Given the description of an element on the screen output the (x, y) to click on. 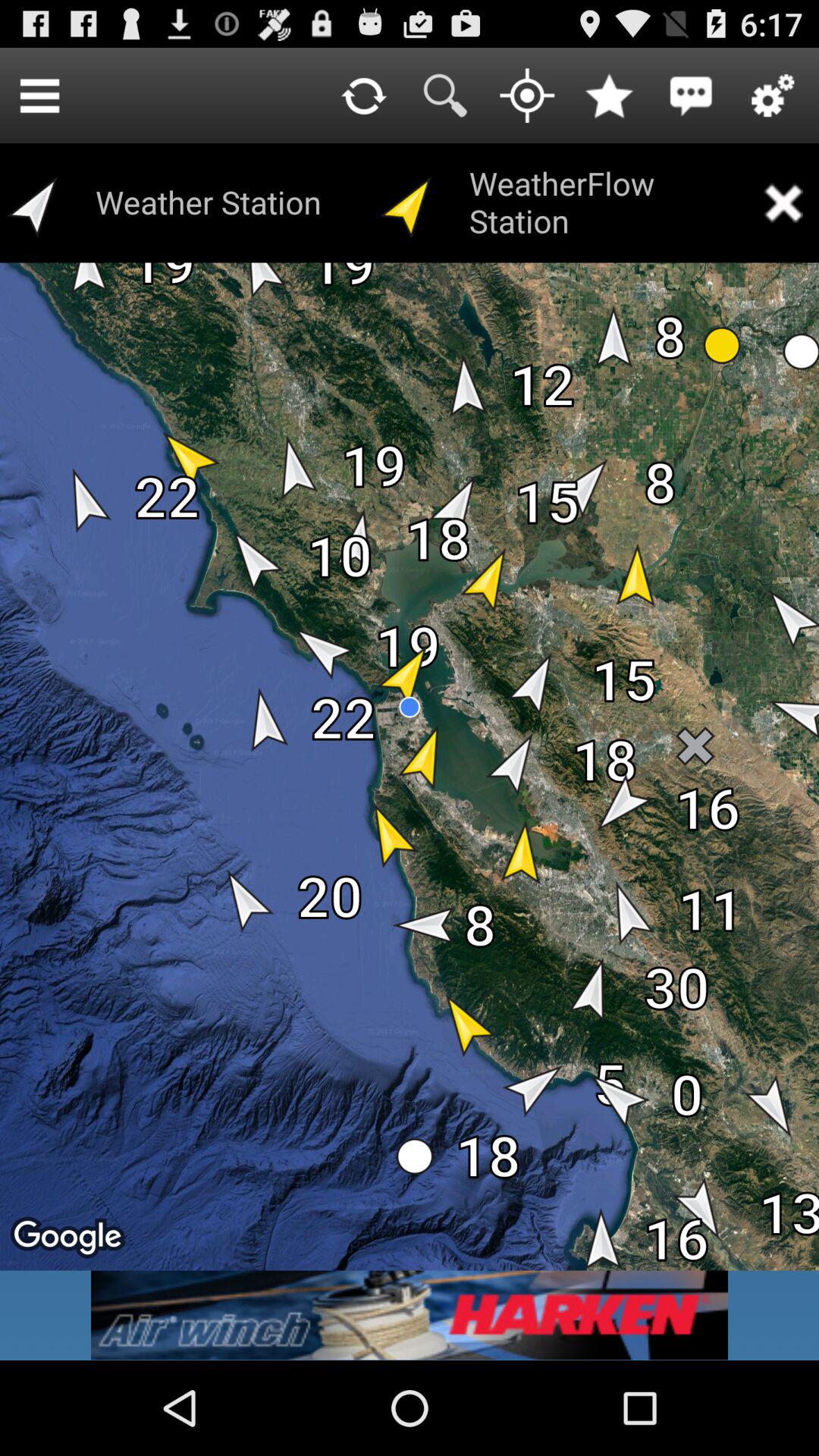
choose item next to weather station item (39, 95)
